Given the description of an element on the screen output the (x, y) to click on. 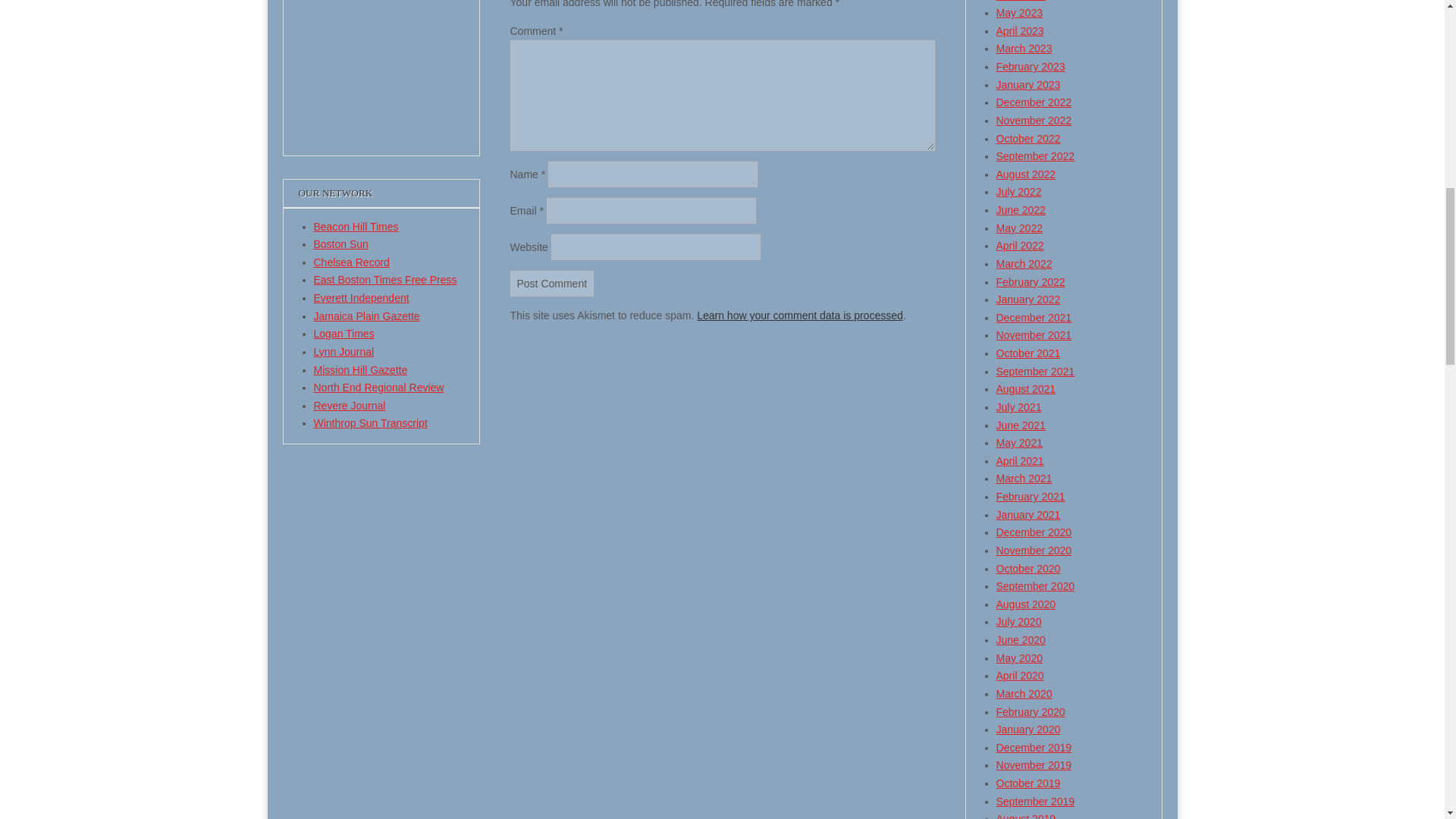
East Boston Times Free Press (385, 279)
Winthrop Sun Transcript (371, 422)
Revere Journal (349, 405)
Everett Independent (361, 297)
Chelsea Record (352, 262)
Beacon Hill Times (356, 226)
Jamaica Plain Gazette (367, 316)
Lynn Journal (344, 351)
Post Comment (551, 283)
Learn how your comment data is processed (799, 315)
